Given the description of an element on the screen output the (x, y) to click on. 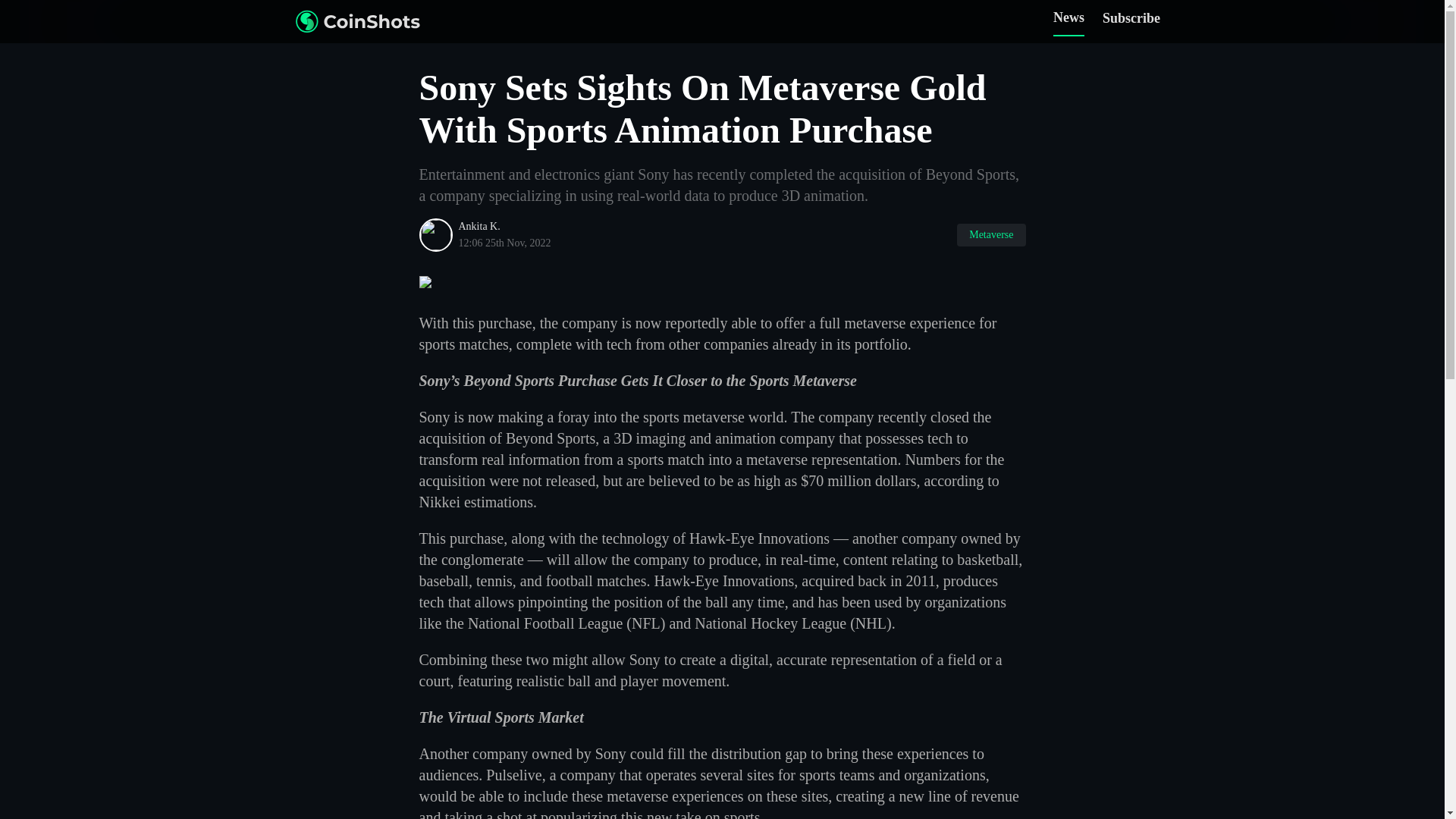
Nikkei (439, 501)
News (1068, 21)
Subscribe (1131, 21)
